Given the description of an element on the screen output the (x, y) to click on. 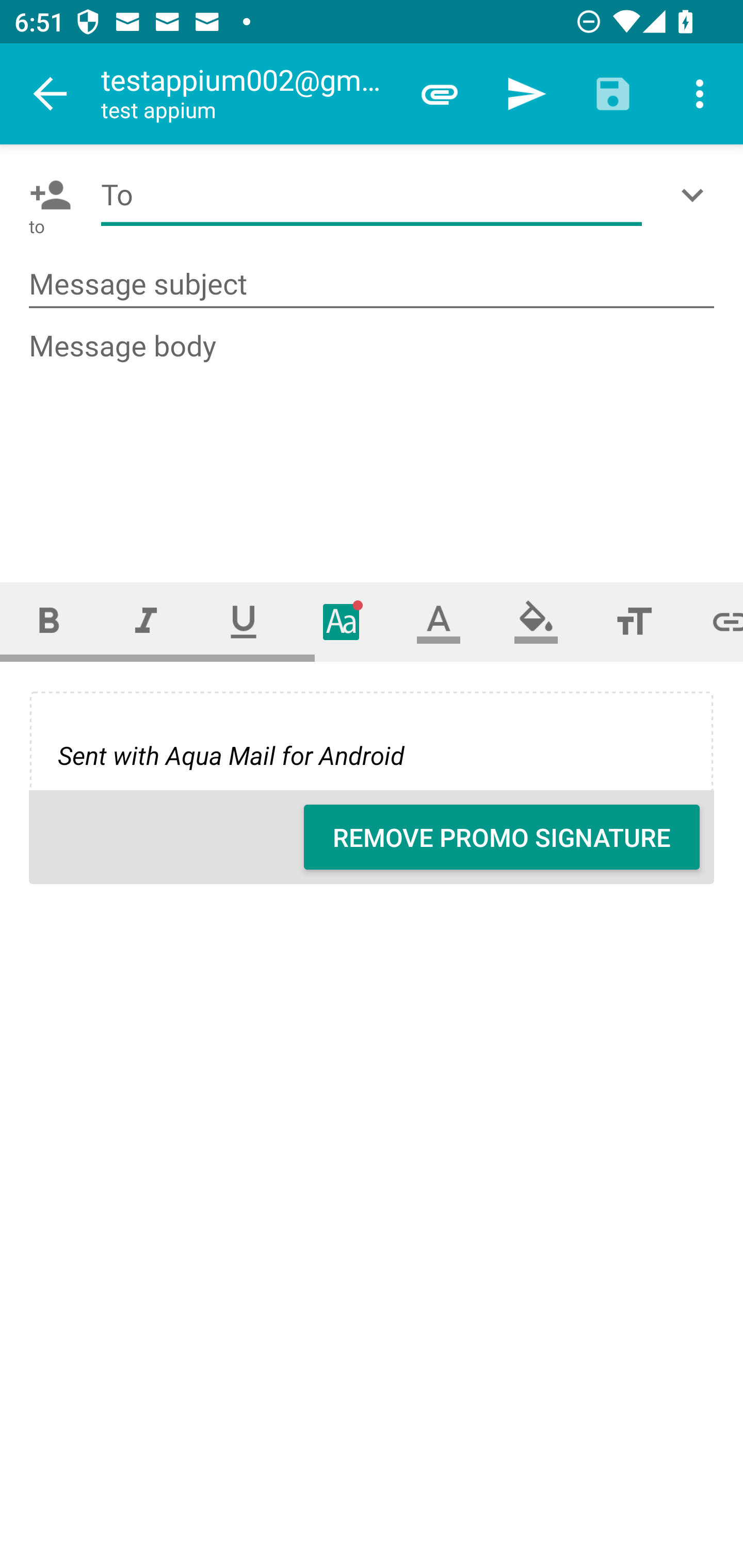
Navigate up (50, 93)
testappium002@gmail.com test appium (248, 93)
Attach (439, 93)
Send (525, 93)
Save (612, 93)
More options (699, 93)
Pick contact: To (46, 195)
Show/Add CC/BCC (696, 195)
To (371, 195)
Message subject (371, 284)
Bold (48, 621)
Italic (145, 621)
Underline (243, 621)
Typeface (font) (341, 621)
Text color (438, 621)
Fill color (536, 621)
Font size (633, 621)
REMOVE PROMO SIGNATURE (501, 837)
